Given the description of an element on the screen output the (x, y) to click on. 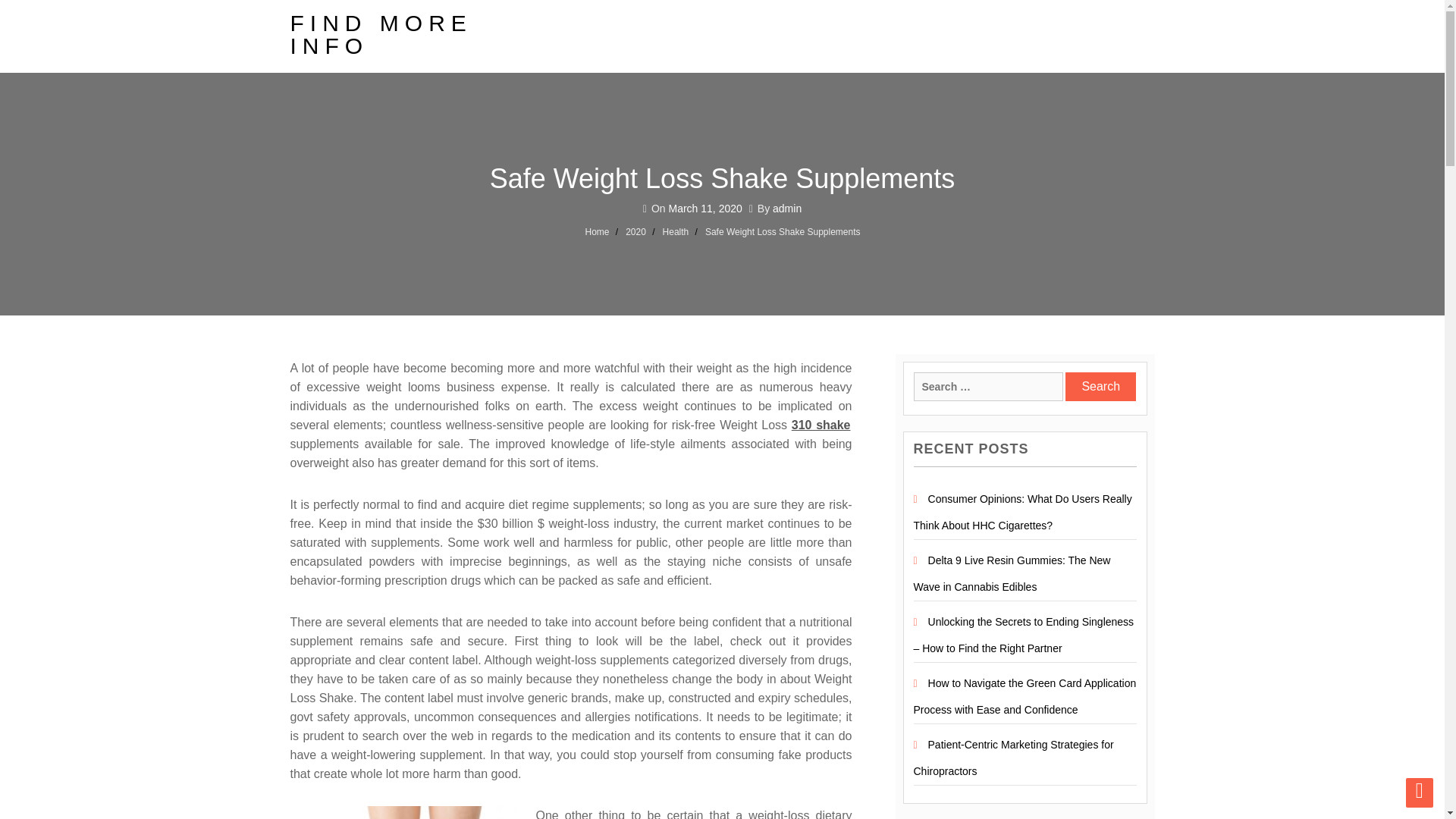
Health (675, 231)
310 shake (821, 424)
Search (1100, 386)
admin (787, 208)
Search (1100, 386)
Search (1100, 386)
Home (597, 231)
Patient-Centric Marketing Strategies for Chiropractors (1012, 757)
